Given the description of an element on the screen output the (x, y) to click on. 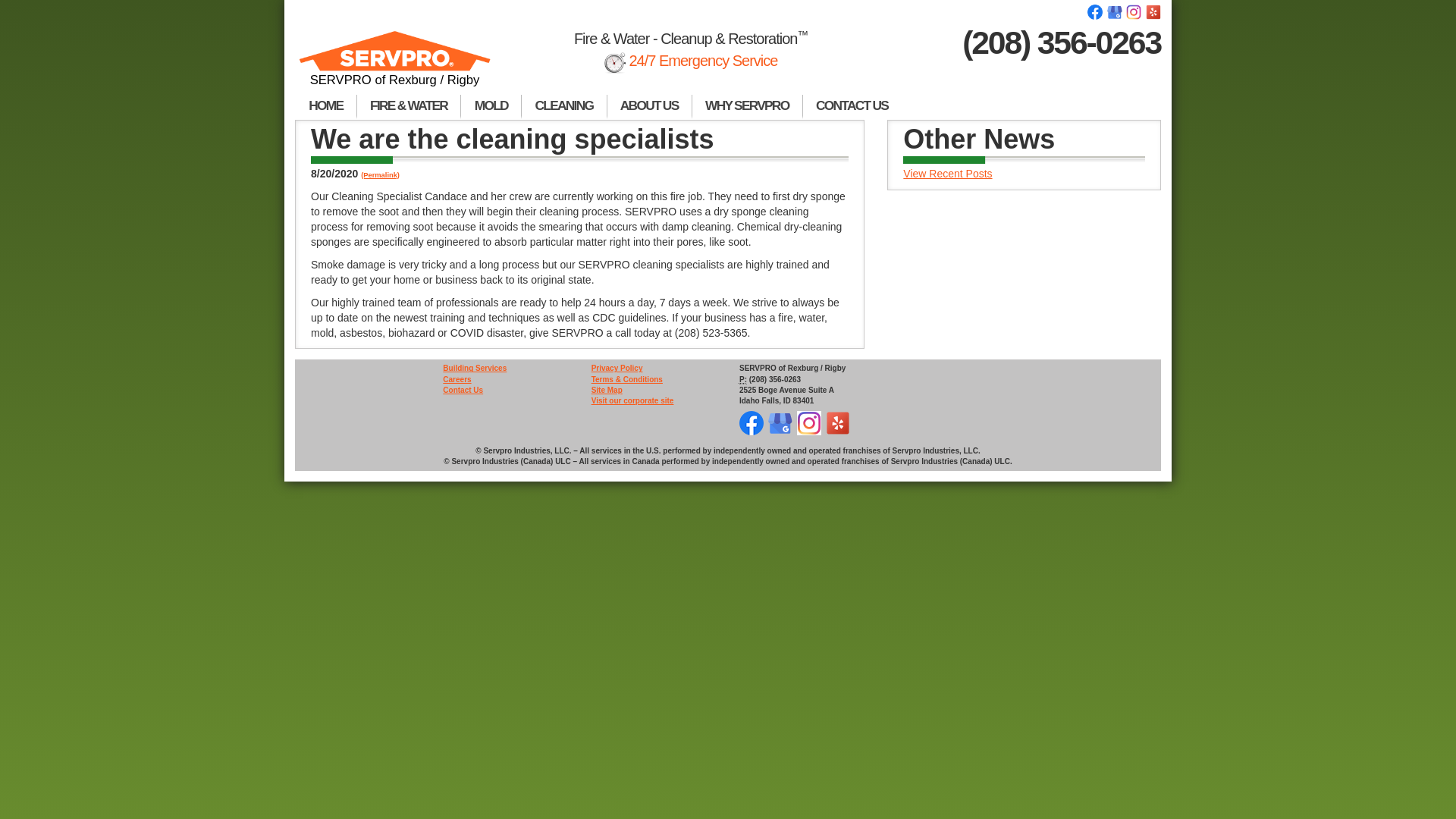
MOLD (491, 106)
CLEANING (564, 106)
HOME (325, 106)
ABOUT US (649, 106)
